Given the description of an element on the screen output the (x, y) to click on. 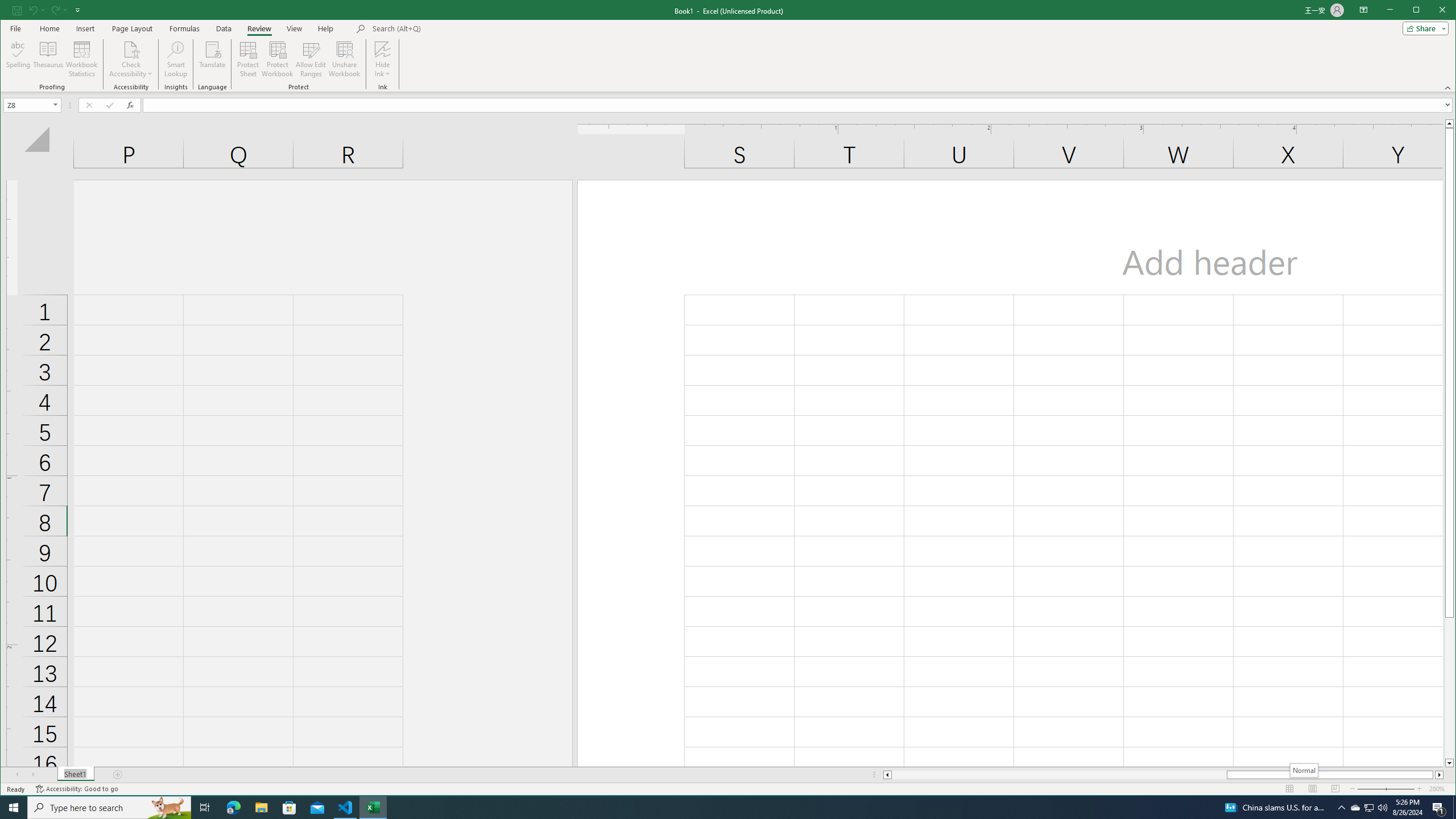
Show desktop (1454, 807)
Thesaurus... (48, 59)
